Given the description of an element on the screen output the (x, y) to click on. 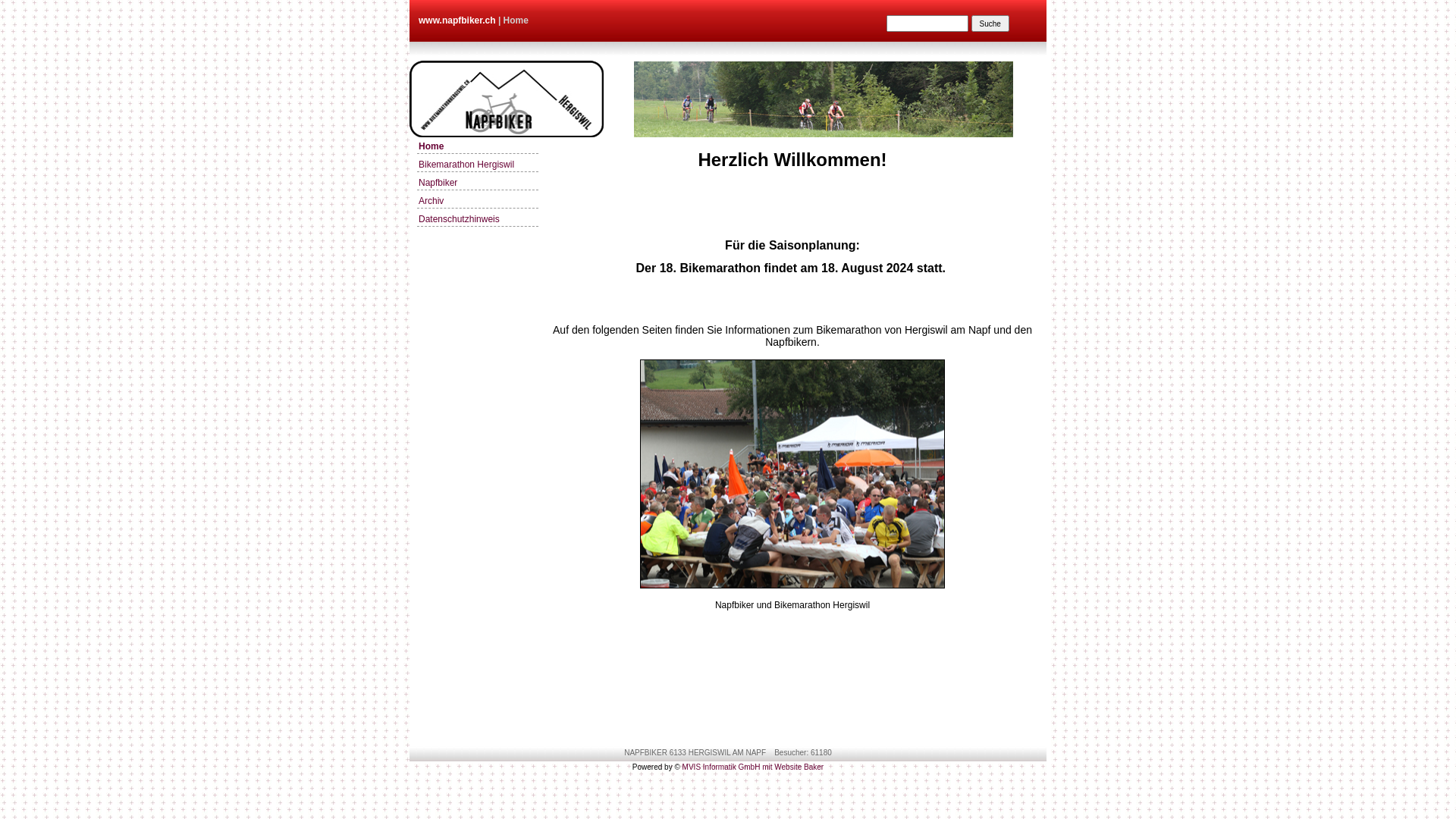
MVIS Informatik GmbH mit Website Baker Element type: text (751, 766)
Archiv Element type: text (477, 201)
Suche Element type: text (990, 23)
Home Element type: text (477, 146)
Napfbiker Element type: text (477, 182)
www.napfbiker.ch Element type: text (456, 20)
Datenschutzhinweis Element type: text (477, 219)
Bikemarathon Hergiswil Element type: text (477, 164)
